Given the description of an element on the screen output the (x, y) to click on. 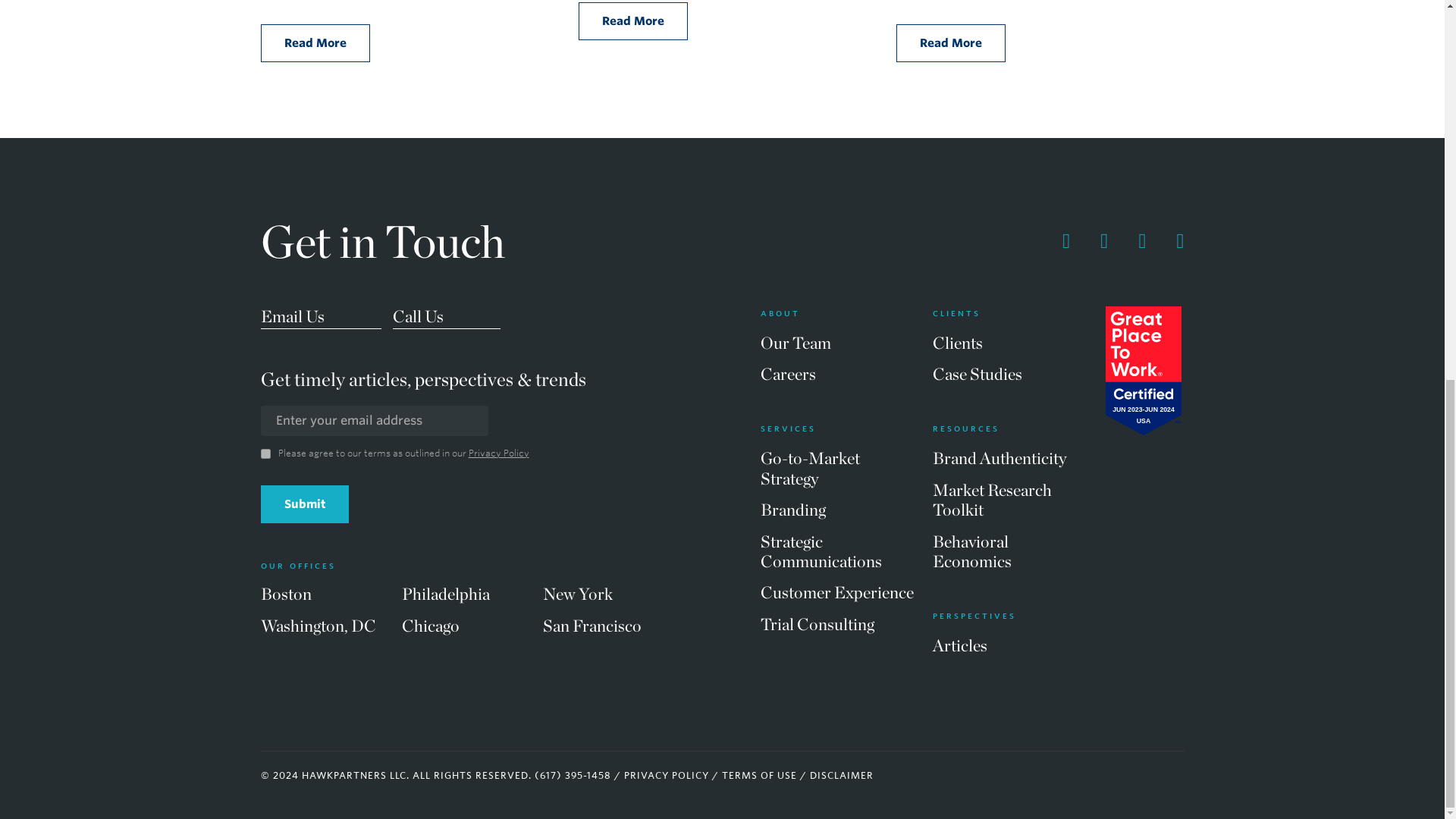
1 (265, 453)
